Given the description of an element on the screen output the (x, y) to click on. 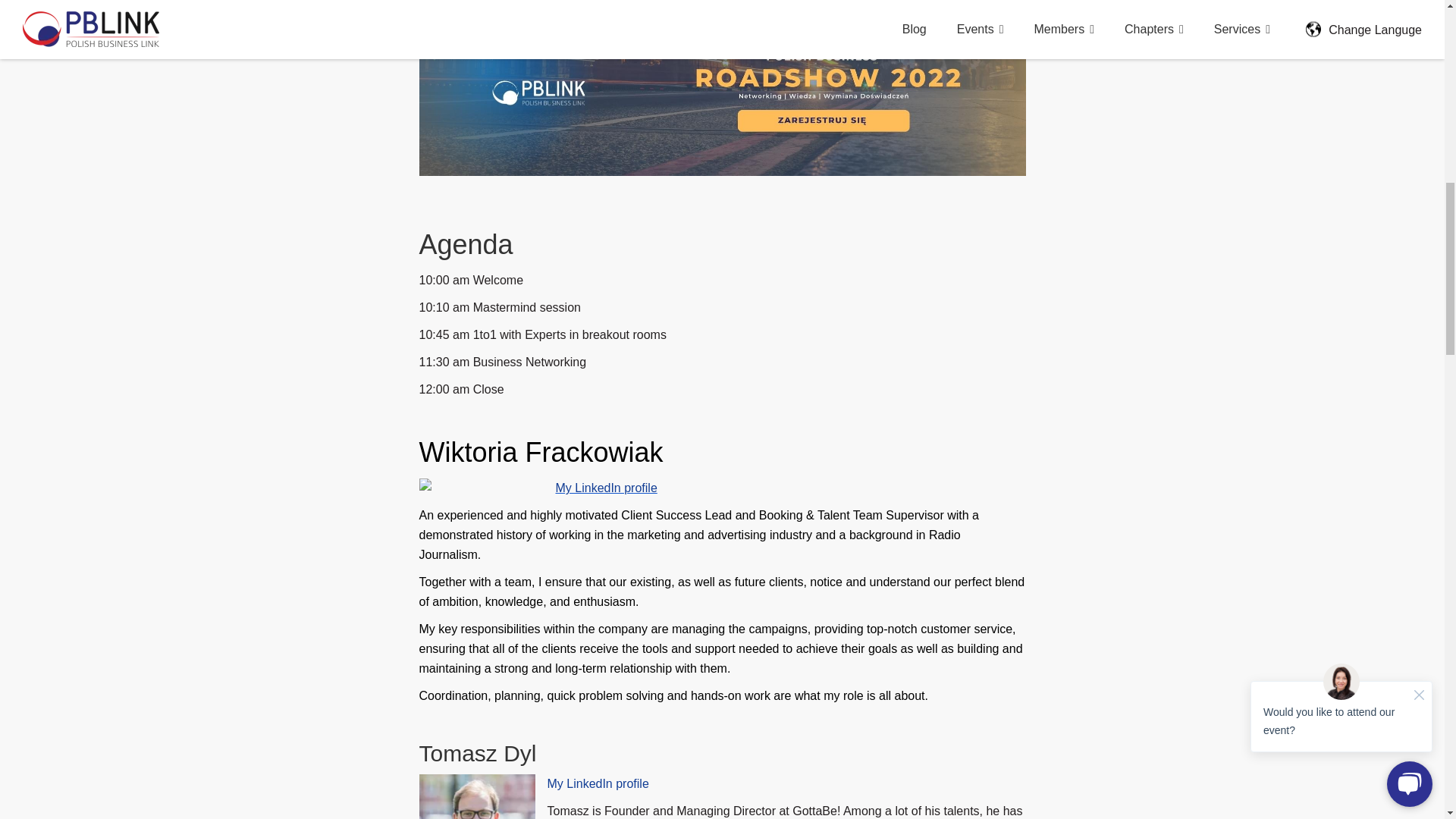
My LinkedIn profile (605, 487)
My LinkedIn profile (598, 783)
